Given the description of an element on the screen output the (x, y) to click on. 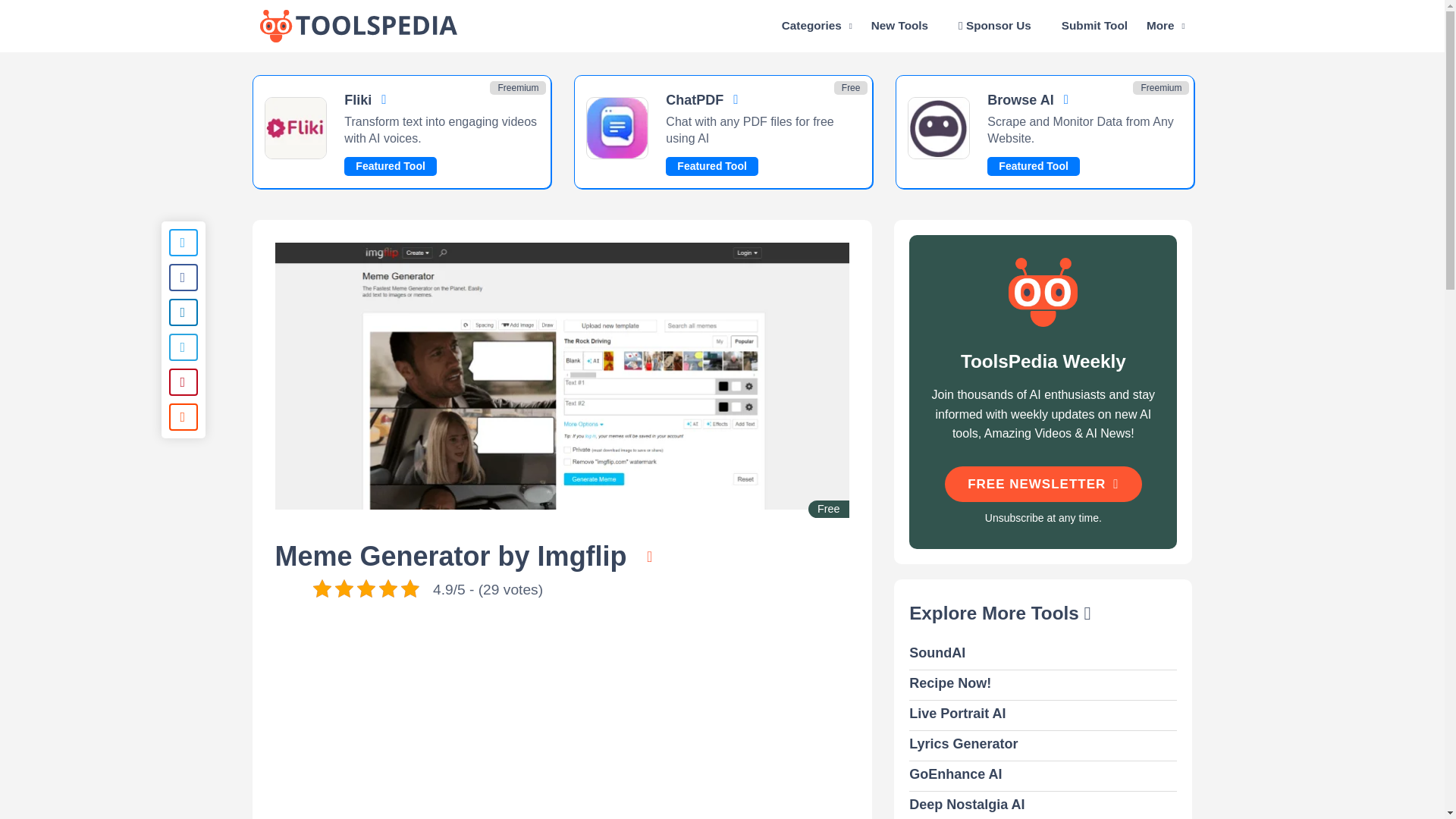
Submit Tool (1093, 25)
More (1166, 25)
Categories (816, 25)
Advertisement (561, 719)
New Tools (899, 25)
